Given the description of an element on the screen output the (x, y) to click on. 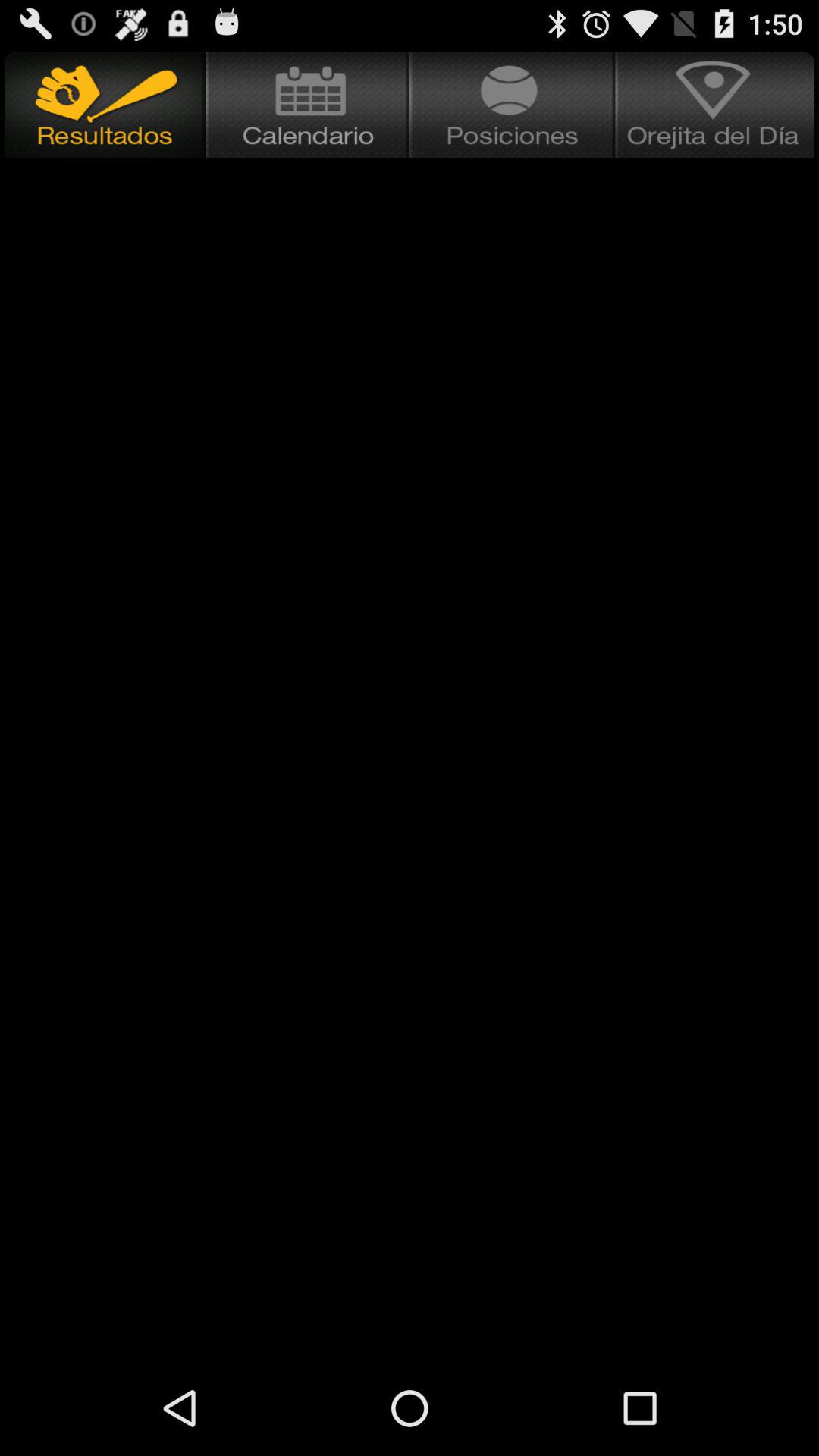
a place to view positions in baseball (512, 104)
